Given the description of an element on the screen output the (x, y) to click on. 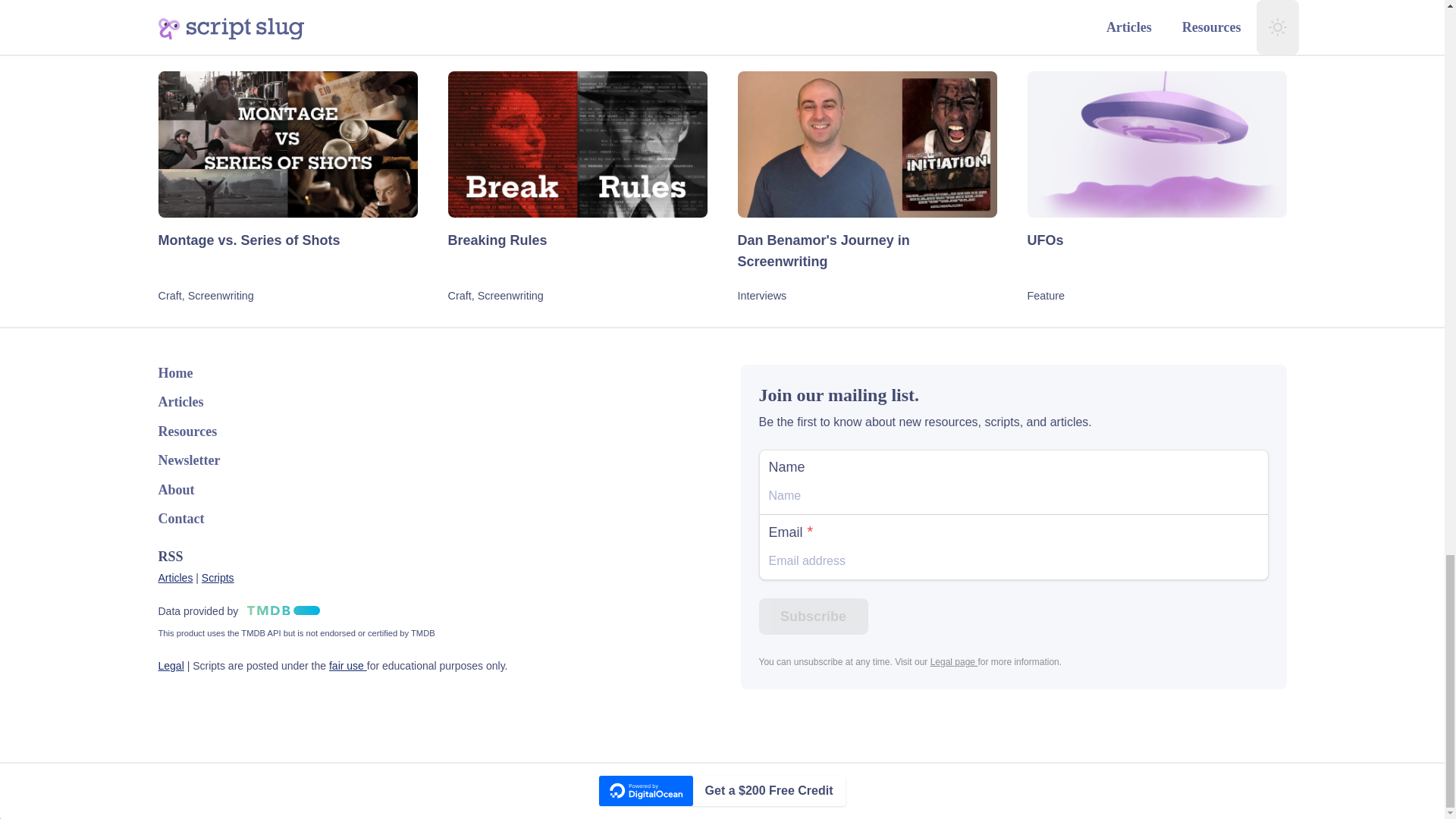
Montage vs. Series of Shots (286, 249)
Breaking Rules (576, 249)
